Given the description of an element on the screen output the (x, y) to click on. 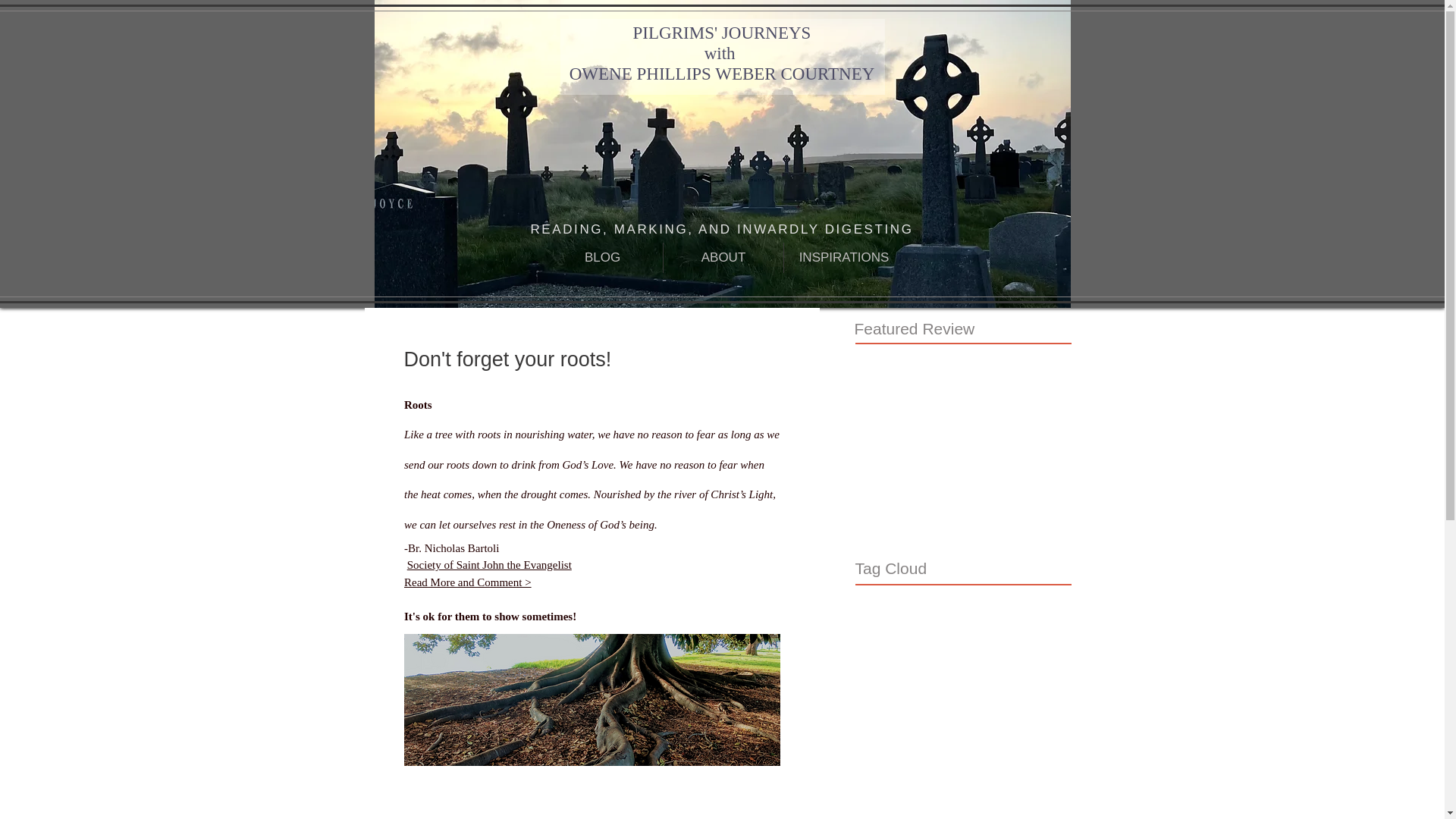
Society of Saint John the Evangelist (488, 565)
INSPIRATIONS (844, 257)
ABOUT (723, 257)
BLOG (601, 257)
